Given the description of an element on the screen output the (x, y) to click on. 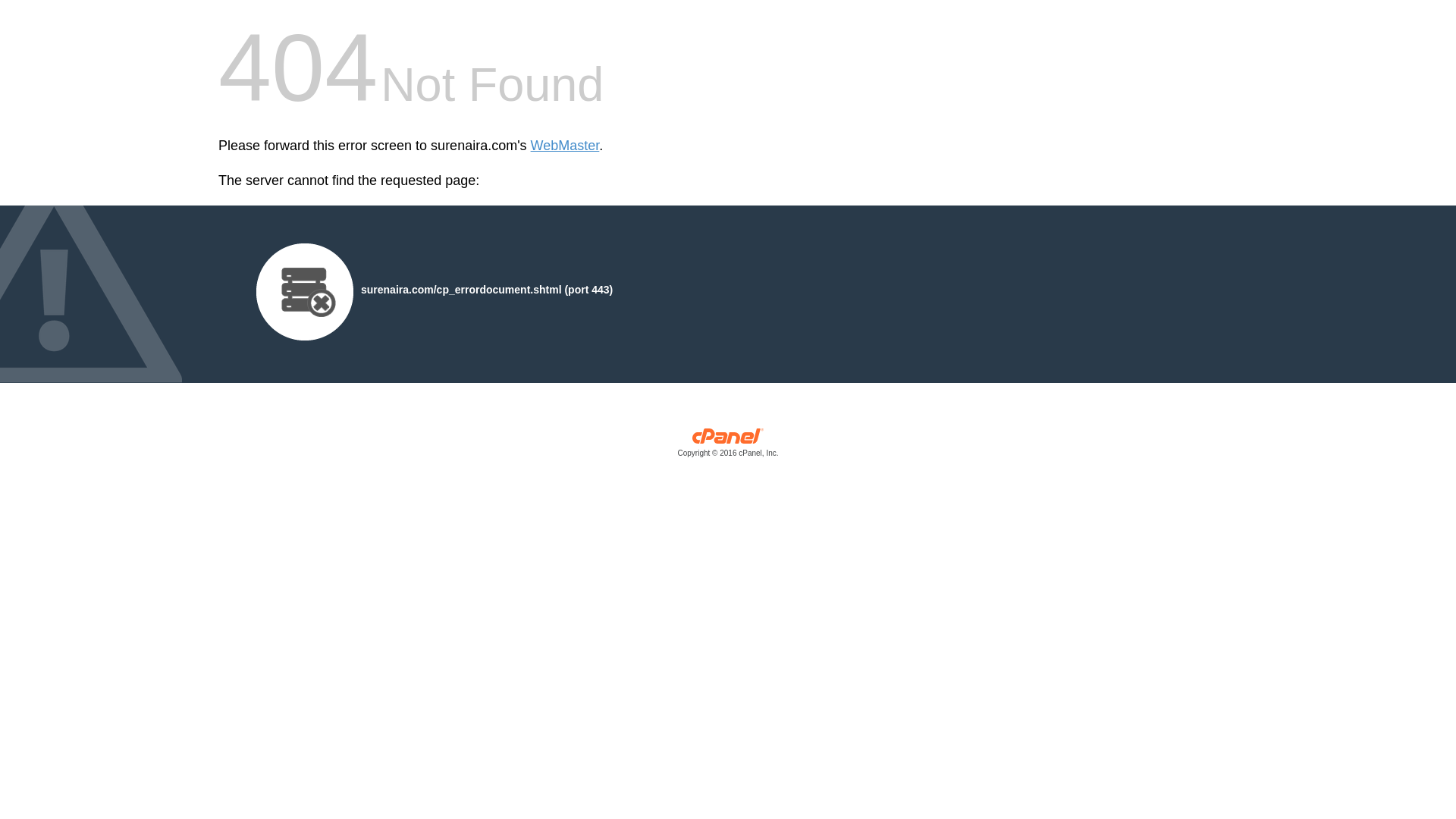
cPanel, Inc. (727, 446)
WebMaster (565, 145)
